Given the description of an element on the screen output the (x, y) to click on. 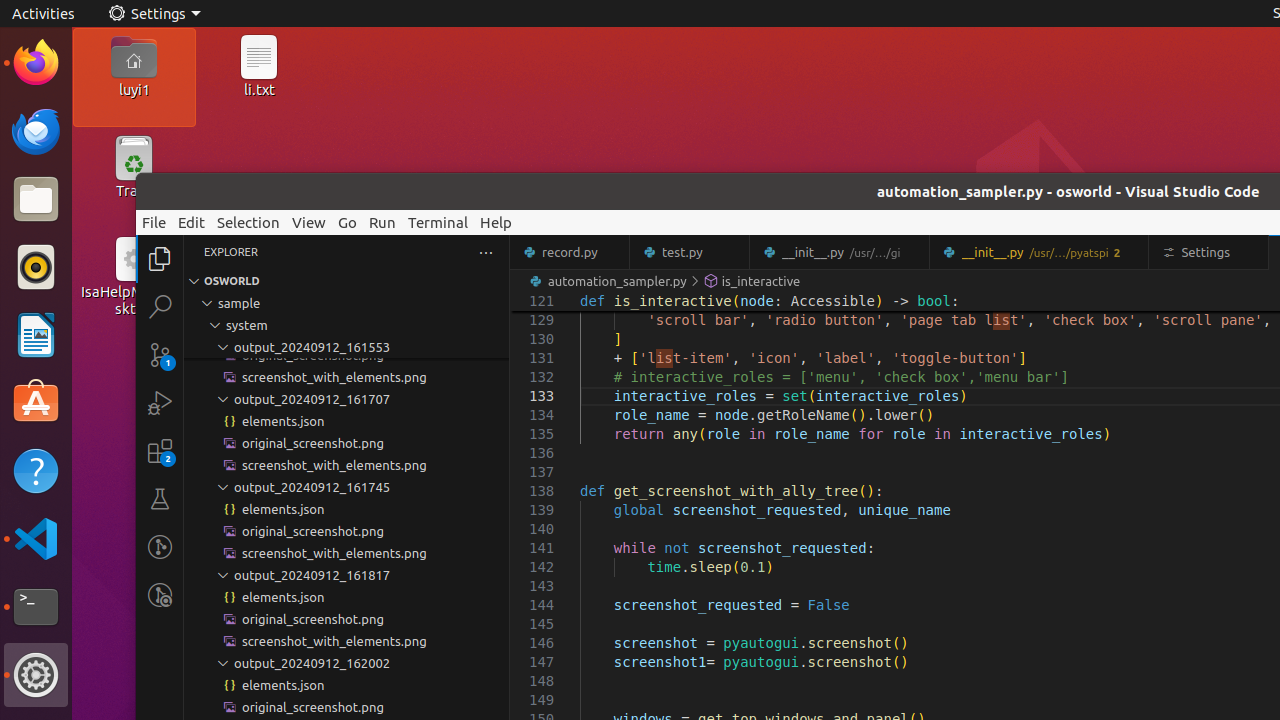
Activities Element type: label (43, 13)
IsaHelpMain.desktop Element type: label (133, 300)
Settings Element type: push-button (36, 675)
